Given the description of an element on the screen output the (x, y) to click on. 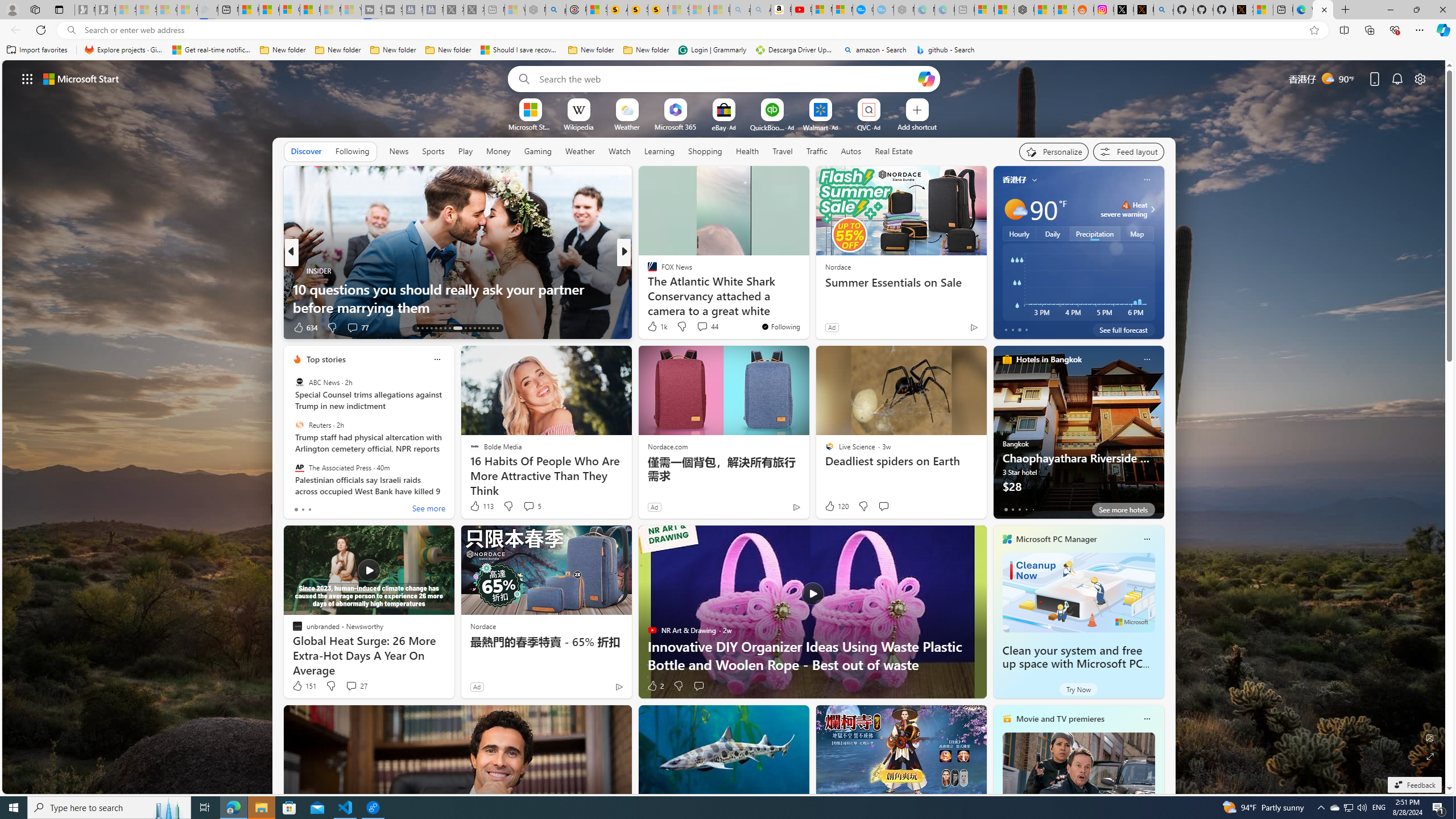
AutomationID: tab-24 (474, 328)
3 PM 4 PM 5 PM 6 PM (1077, 282)
Precipitation (1094, 233)
Shanghai, China Weather trends | Microsoft Weather (1063, 9)
1k Like (656, 326)
AutomationID: tab-13 (417, 328)
Overview (289, 9)
tab-0 (1005, 509)
Ripple CEO: XRP ETF comes in 2025 (807, 307)
Microsoft Start - Sleeping (330, 9)
Expand background (1430, 756)
github - Search (1162, 9)
